Given the description of an element on the screen output the (x, y) to click on. 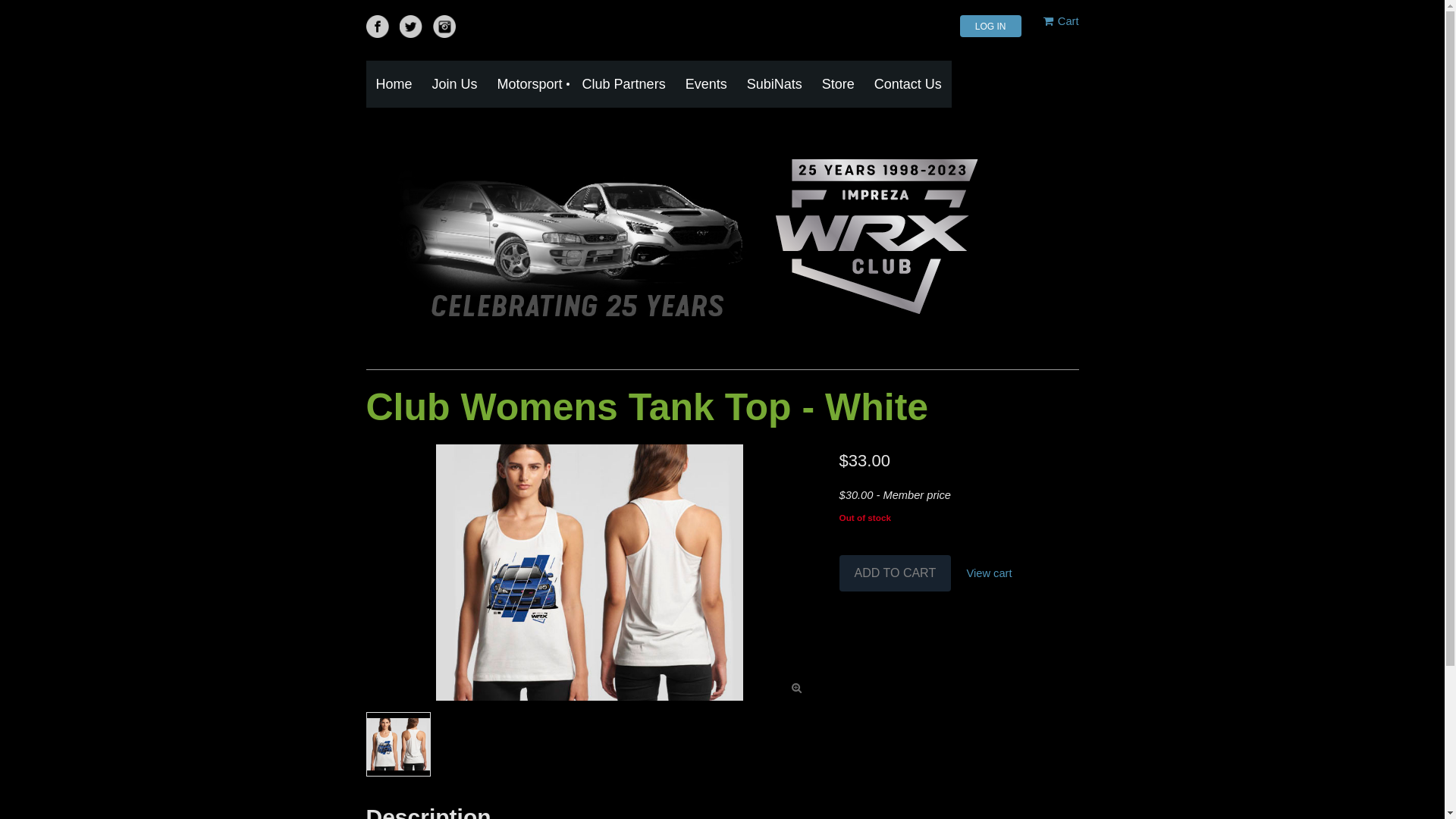
SubiNats Element type: text (774, 83)
Contact Us Element type: text (907, 83)
Cart Element type: text (1061, 21)
LOG IN Element type: text (990, 26)
View cart Element type: text (989, 573)
Home Element type: text (393, 83)
Events Element type: text (706, 83)
Instagram Element type: hover (444, 26)
Add to cart Element type: hover (895, 573)
Motorsport Element type: text (529, 83)
Twitter Element type: hover (410, 26)
Facebook Element type: hover (376, 26)
Join Us Element type: text (454, 83)
Store Element type: text (838, 83)
Club Partners Element type: text (623, 83)
